Given the description of an element on the screen output the (x, y) to click on. 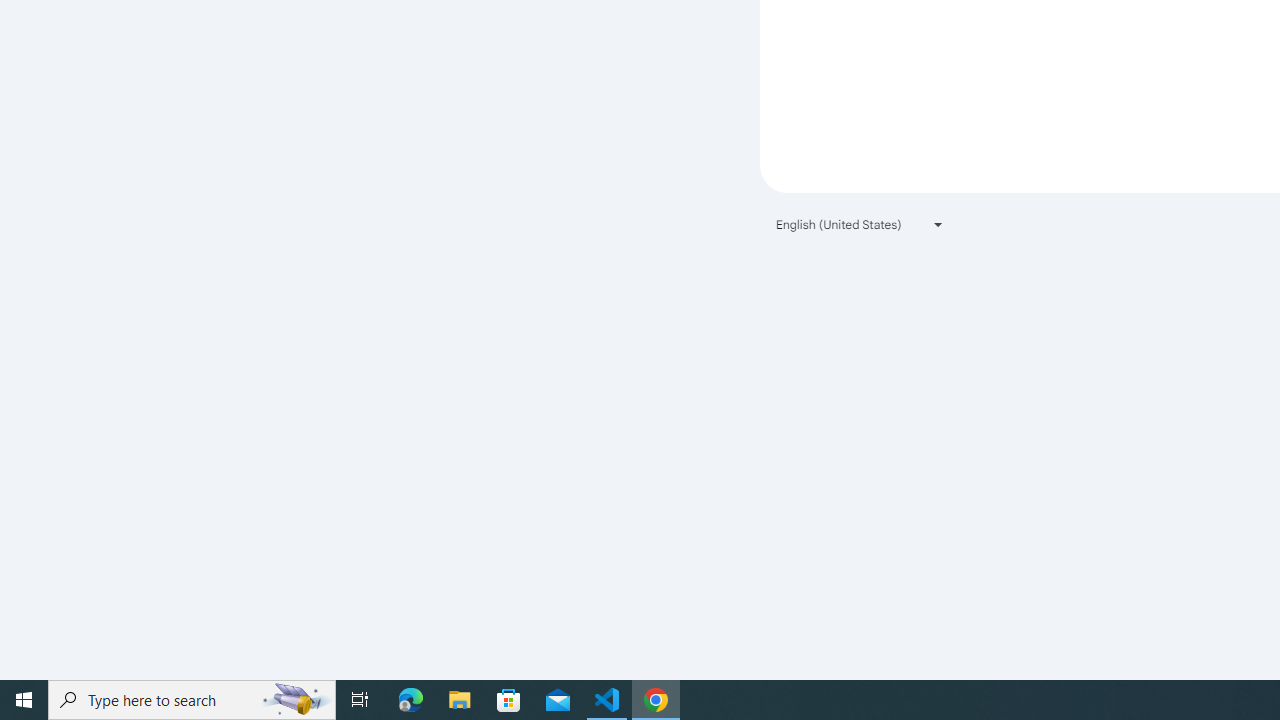
English (United States) (860, 224)
